Given the description of an element on the screen output the (x, y) to click on. 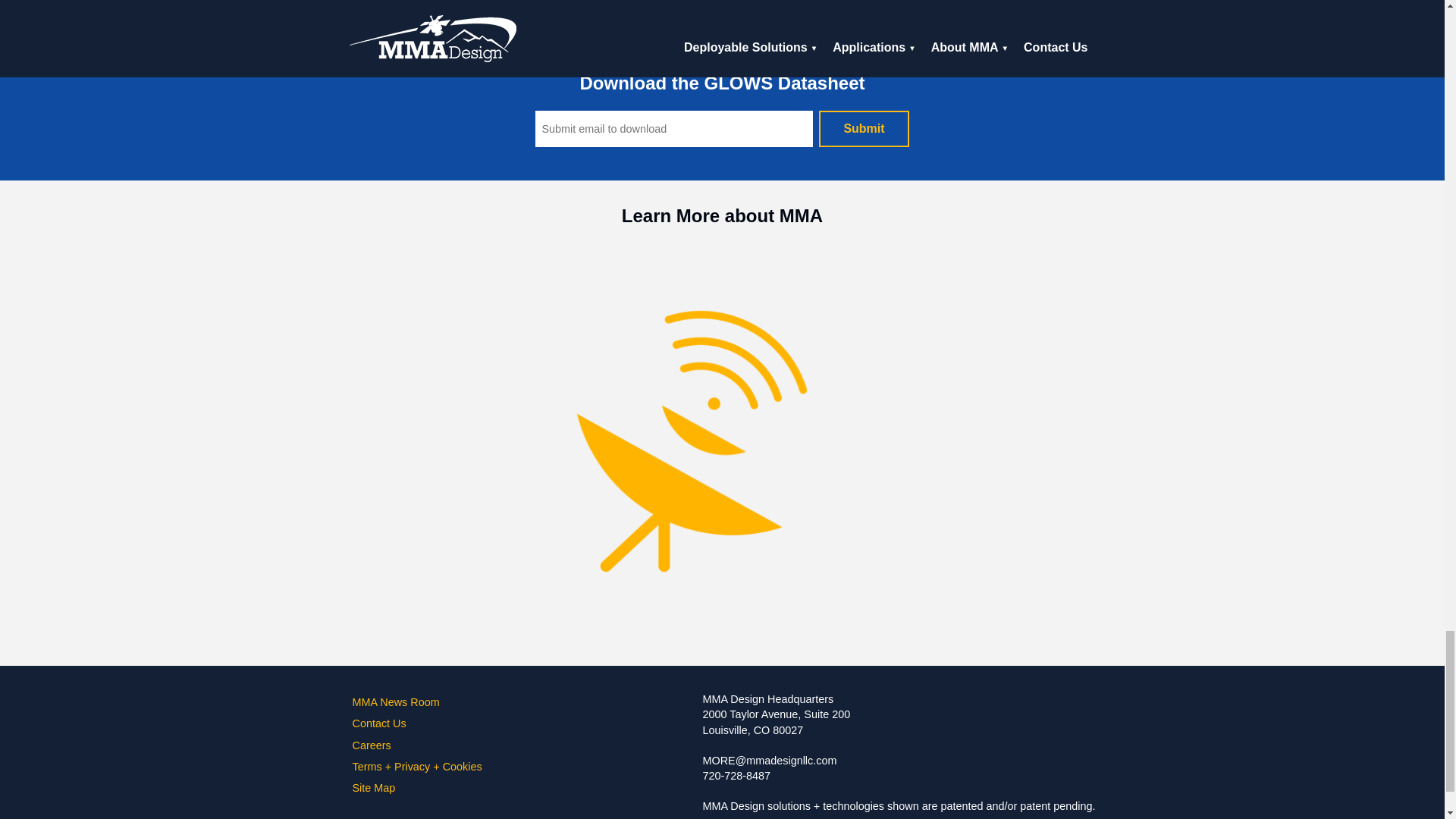
MMA News Room (416, 701)
Submit (863, 128)
Contact Us (416, 722)
Submit (863, 128)
Careers (416, 744)
Site Map (416, 787)
